Given the description of an element on the screen output the (x, y) to click on. 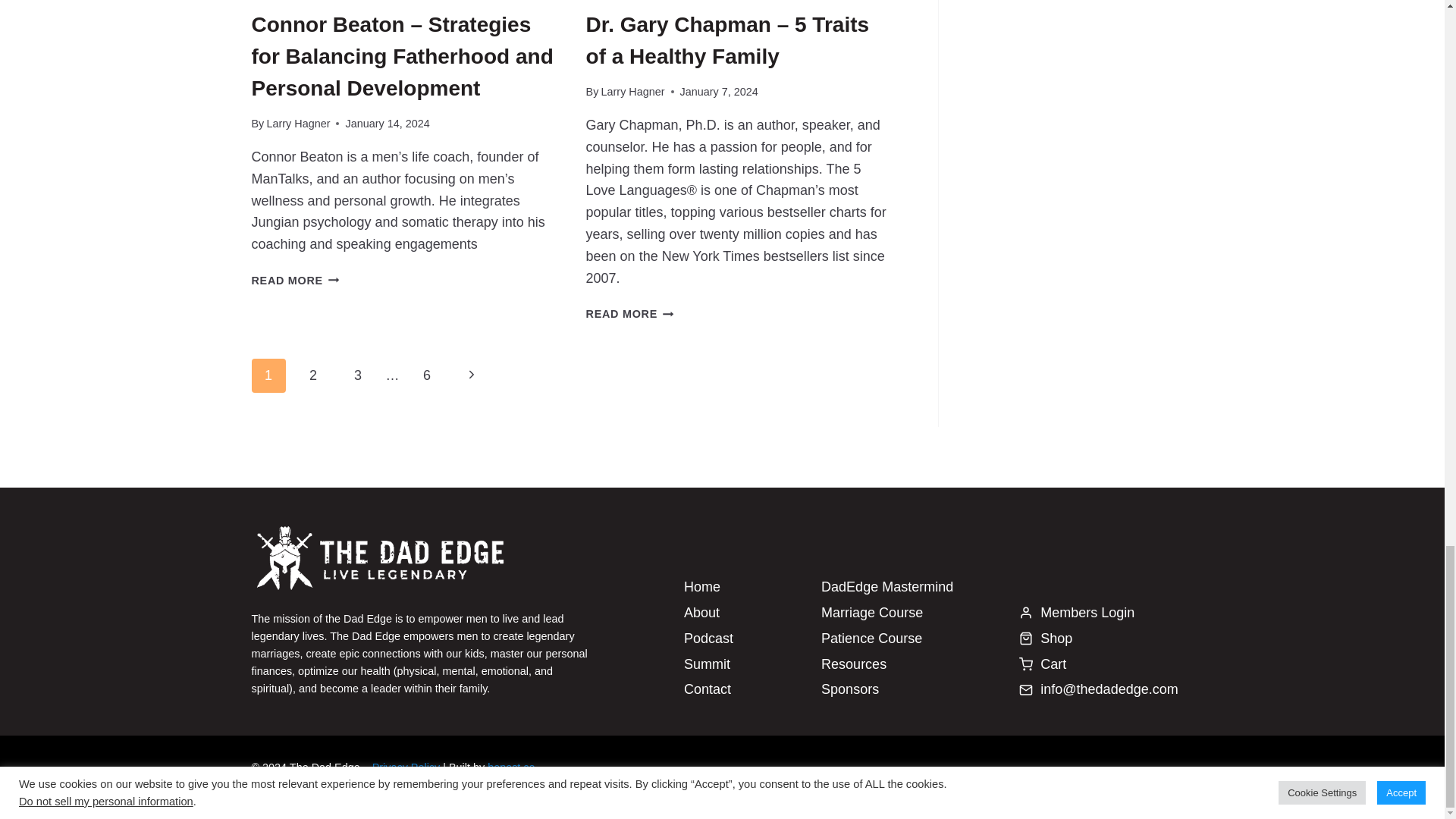
PODCAST (276, 0)
